Given the description of an element on the screen output the (x, y) to click on. 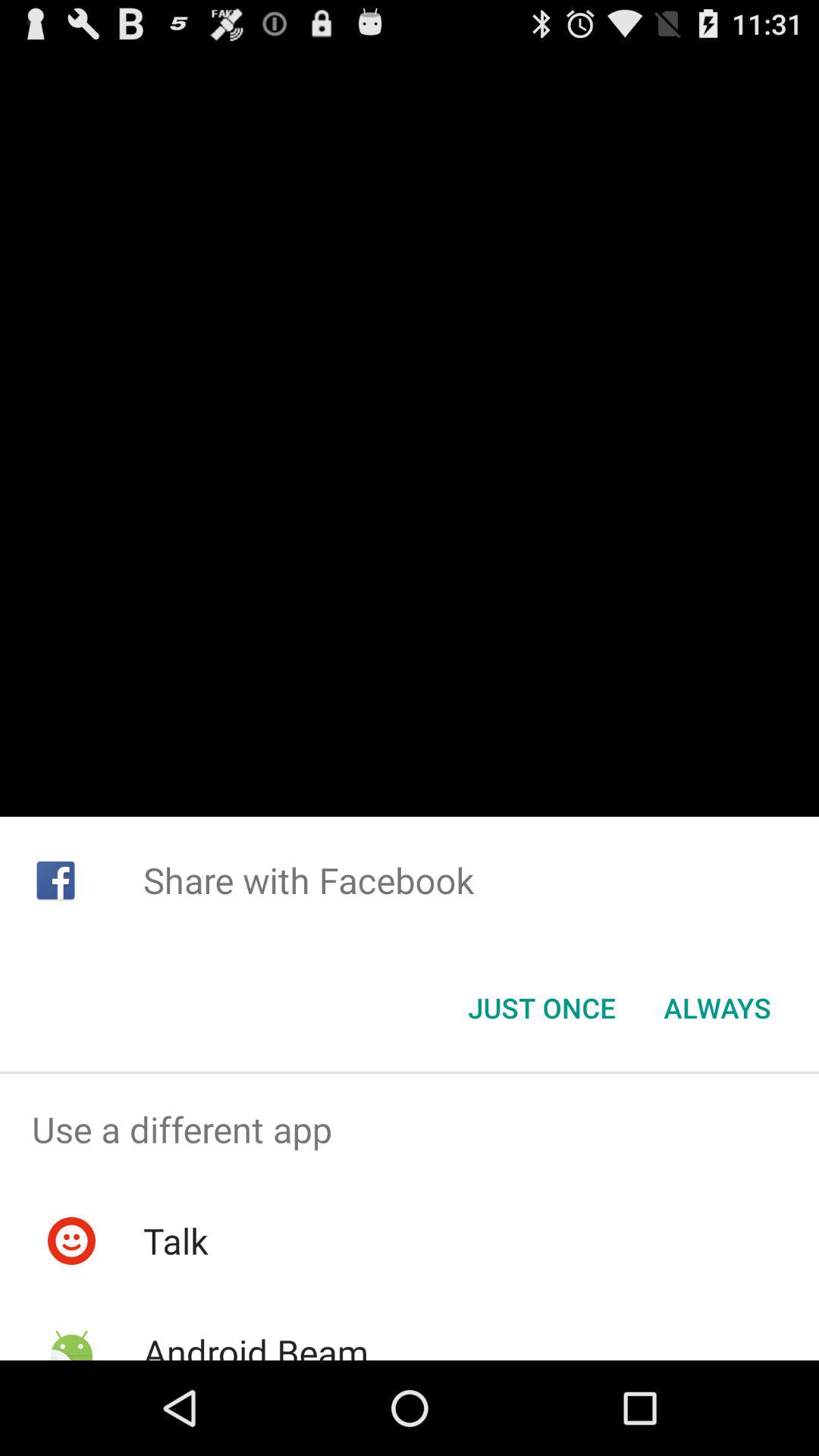
launch icon to the left of the always button (541, 1007)
